Given the description of an element on the screen output the (x, y) to click on. 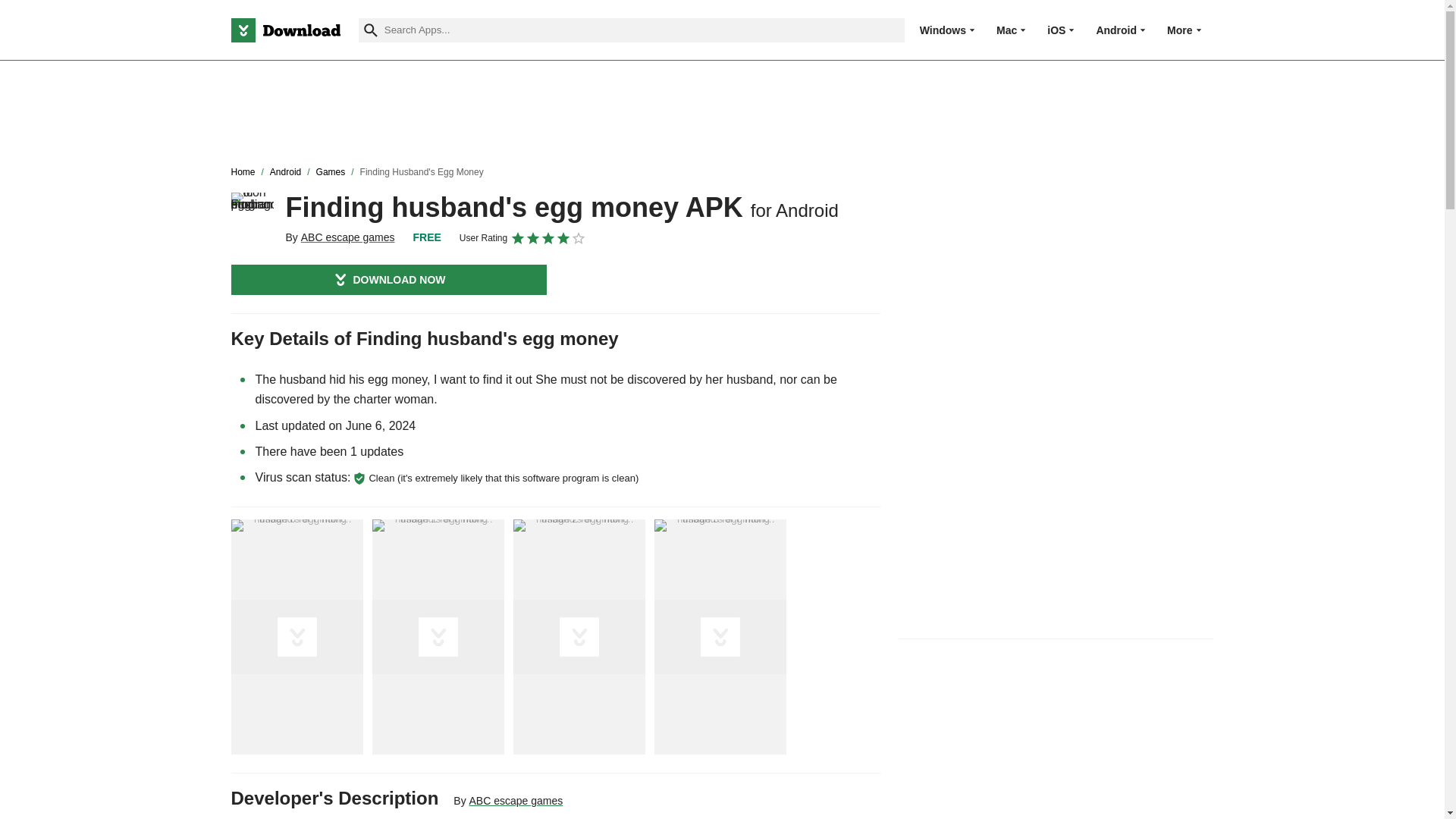
Mac (1005, 29)
Windows (943, 29)
Finding husband's egg money APK for Android (251, 213)
